Given the description of an element on the screen output the (x, y) to click on. 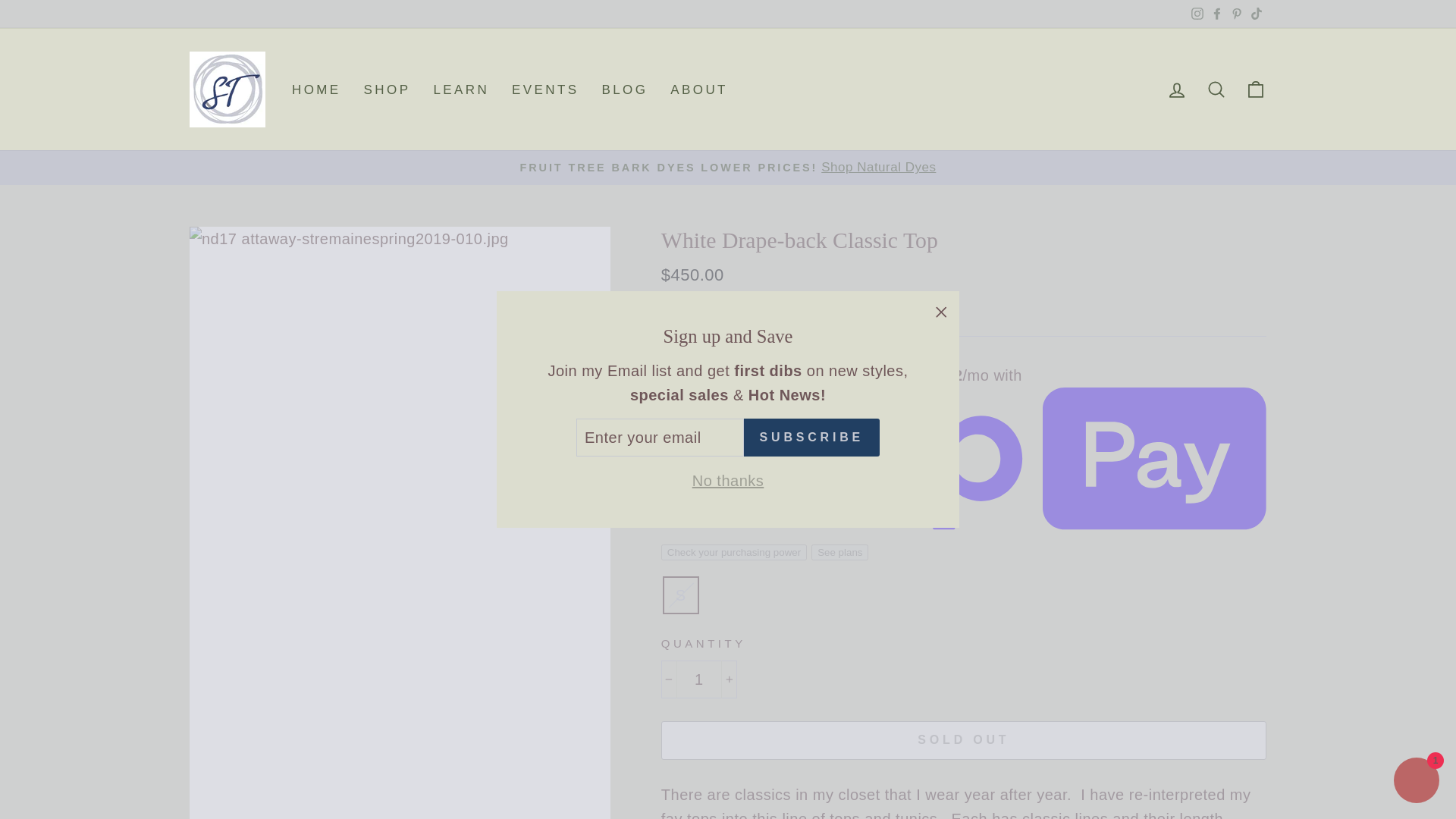
1 (698, 679)
Shopify online store chat (1416, 781)
